Given the description of an element on the screen output the (x, y) to click on. 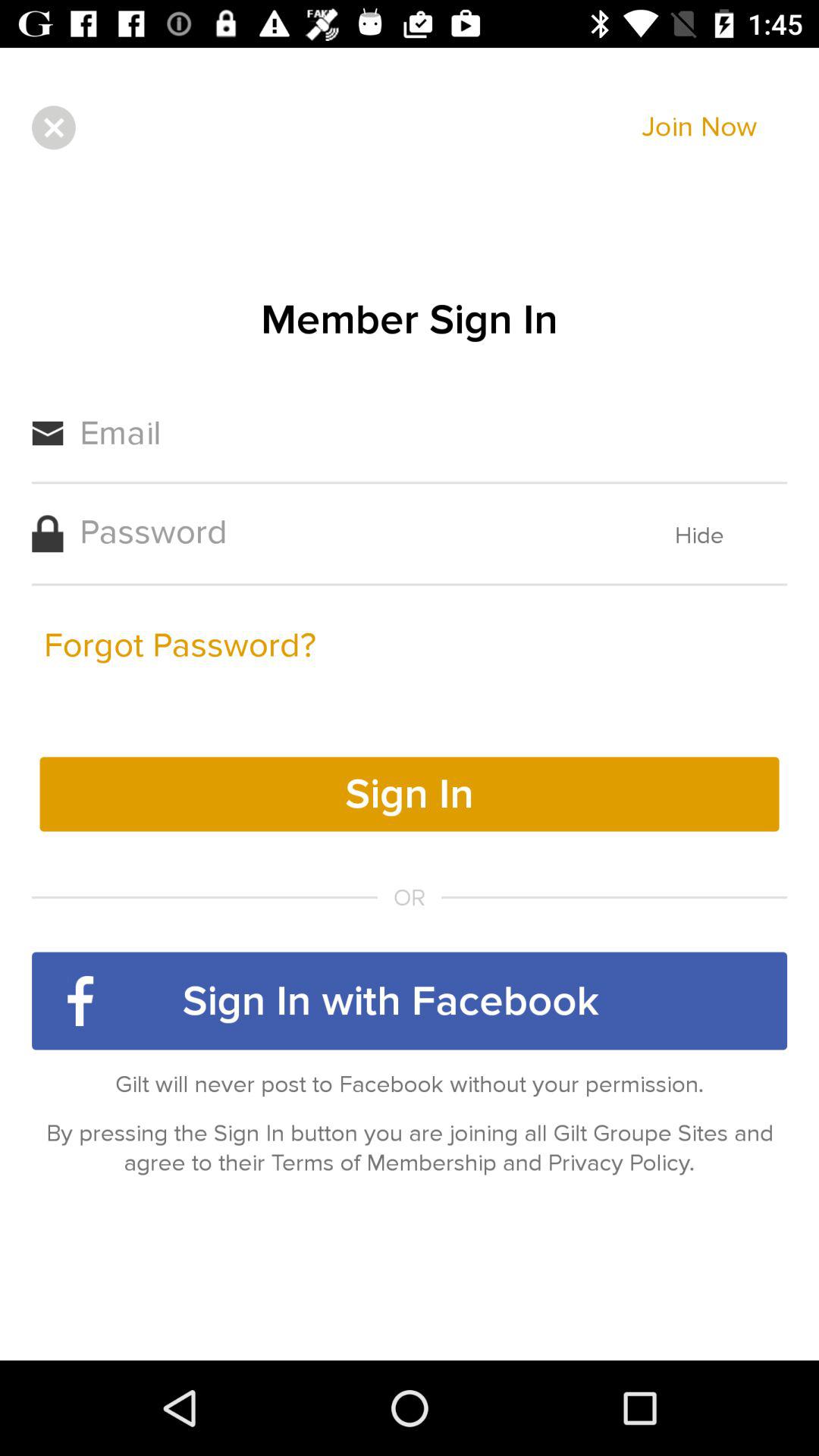
turn off the icon at the top right corner (699, 127)
